Given the description of an element on the screen output the (x, y) to click on. 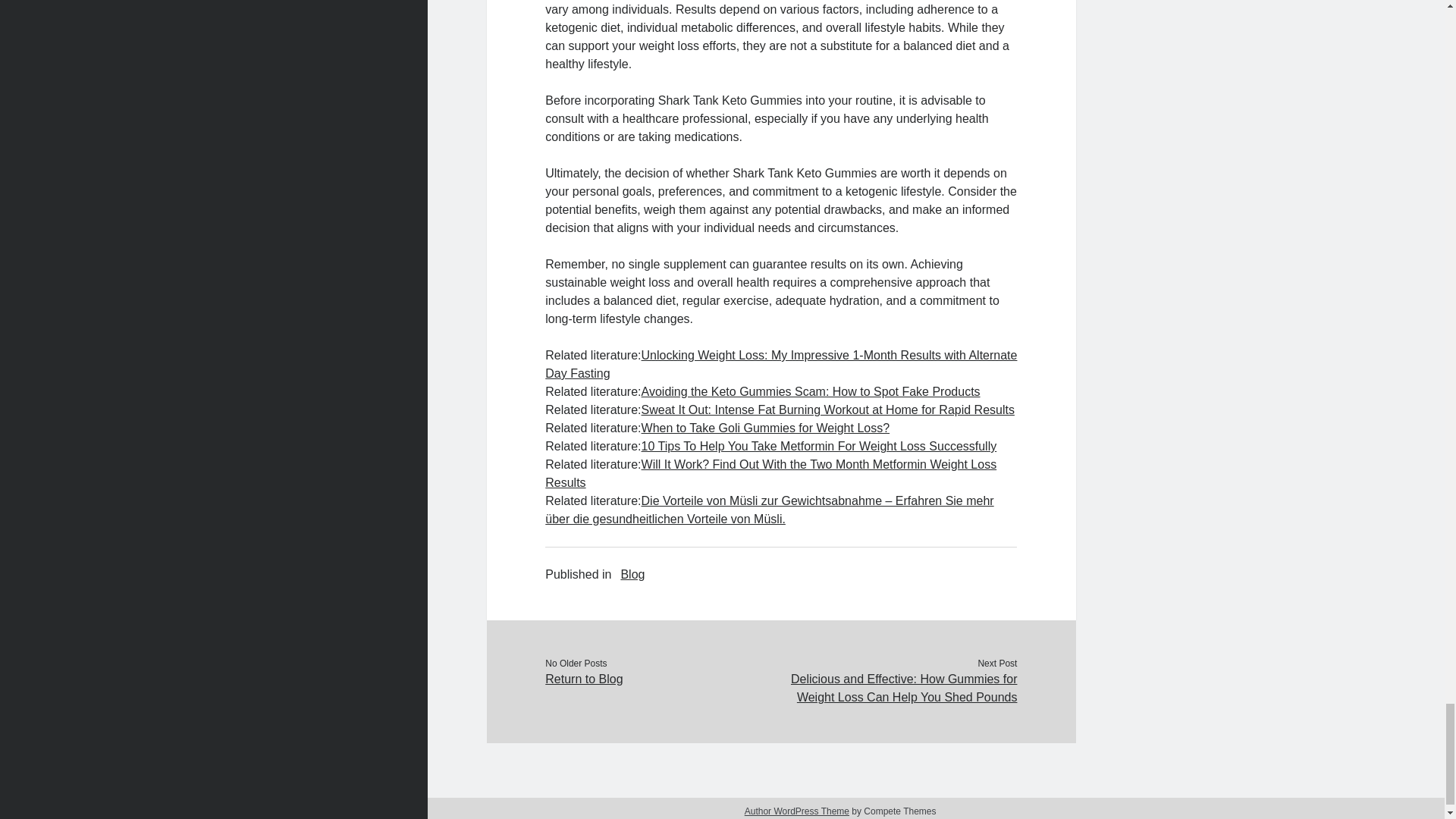
View all posts in Blog (632, 574)
Return to Blog (662, 679)
Blog (632, 574)
Avoiding the Keto Gummies Scam: How to Spot Fake Products (810, 391)
When to Take Goli Gummies for Weight Loss? (765, 427)
